Given the description of an element on the screen output the (x, y) to click on. 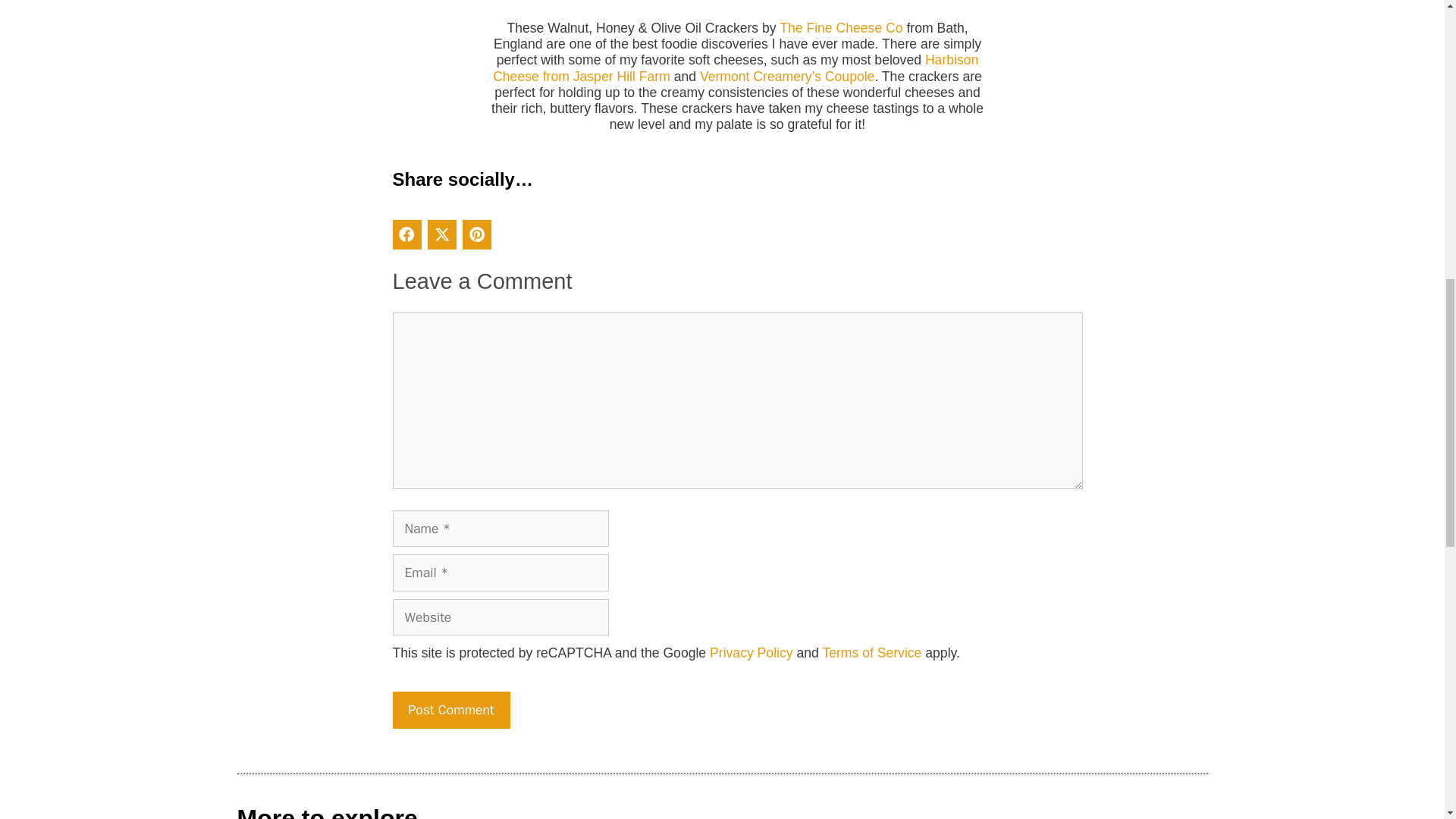
Post Comment (452, 709)
